Given the description of an element on the screen output the (x, y) to click on. 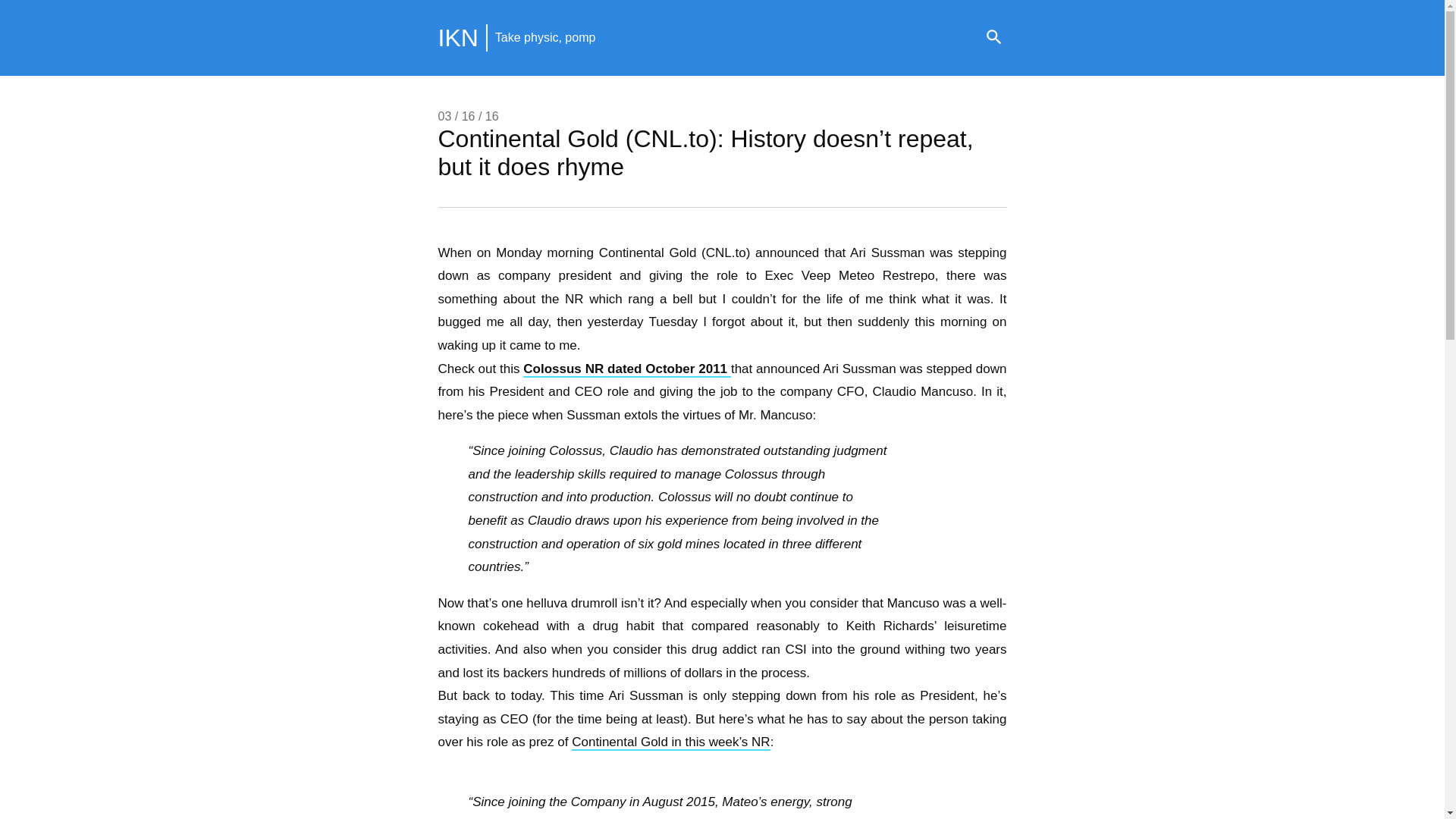
Search (993, 37)
IKN (458, 37)
Colossus NR dated October 2011 (626, 369)
